Given the description of an element on the screen output the (x, y) to click on. 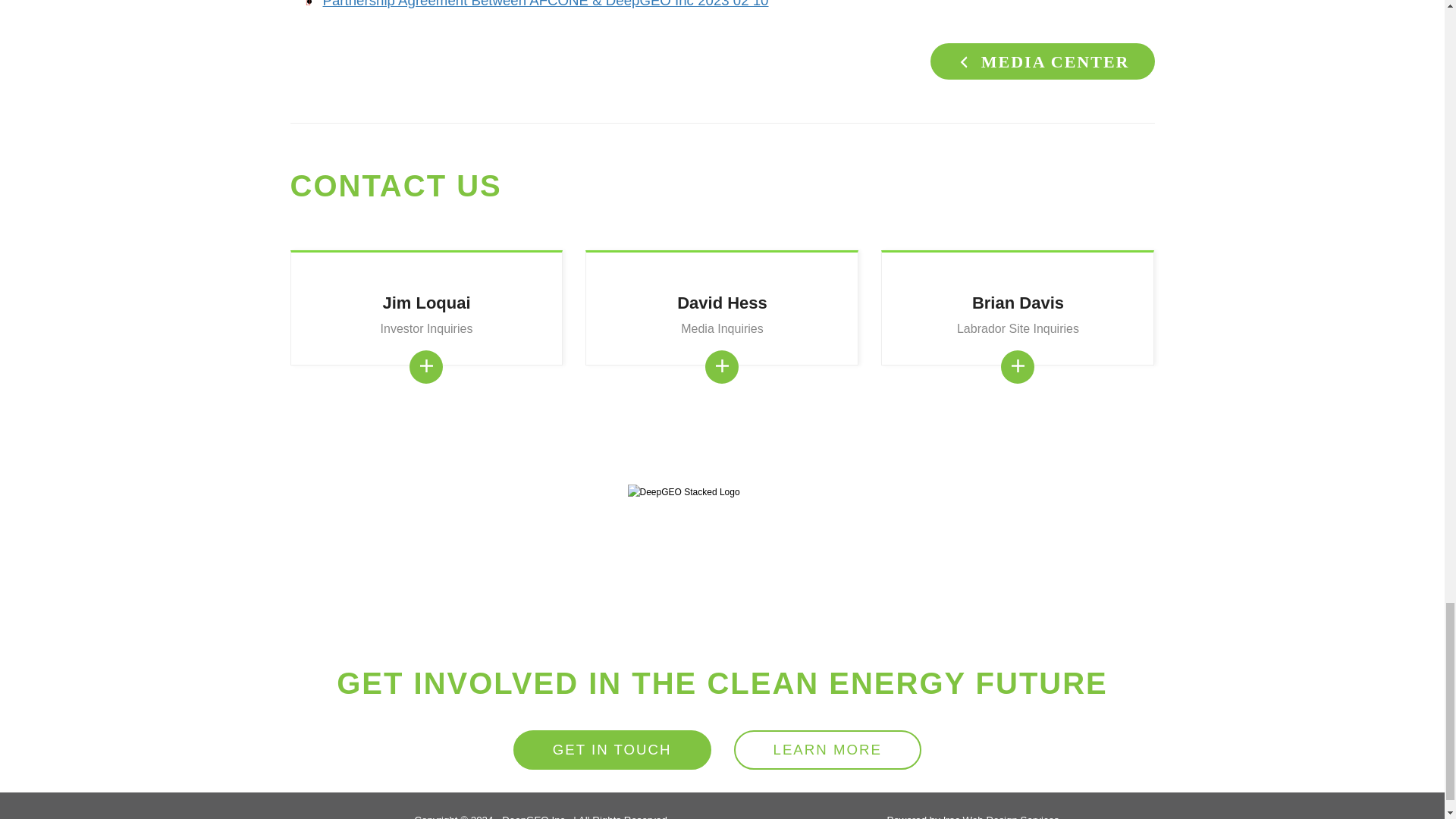
LEARN MORE (827, 750)
DeepGEO Logo (721, 556)
Iroc Web Design Services (1001, 816)
Iroc Web Design Services (1001, 816)
MEDIA CENTER (1042, 61)
GET IN TOUCH (612, 750)
